Given the description of an element on the screen output the (x, y) to click on. 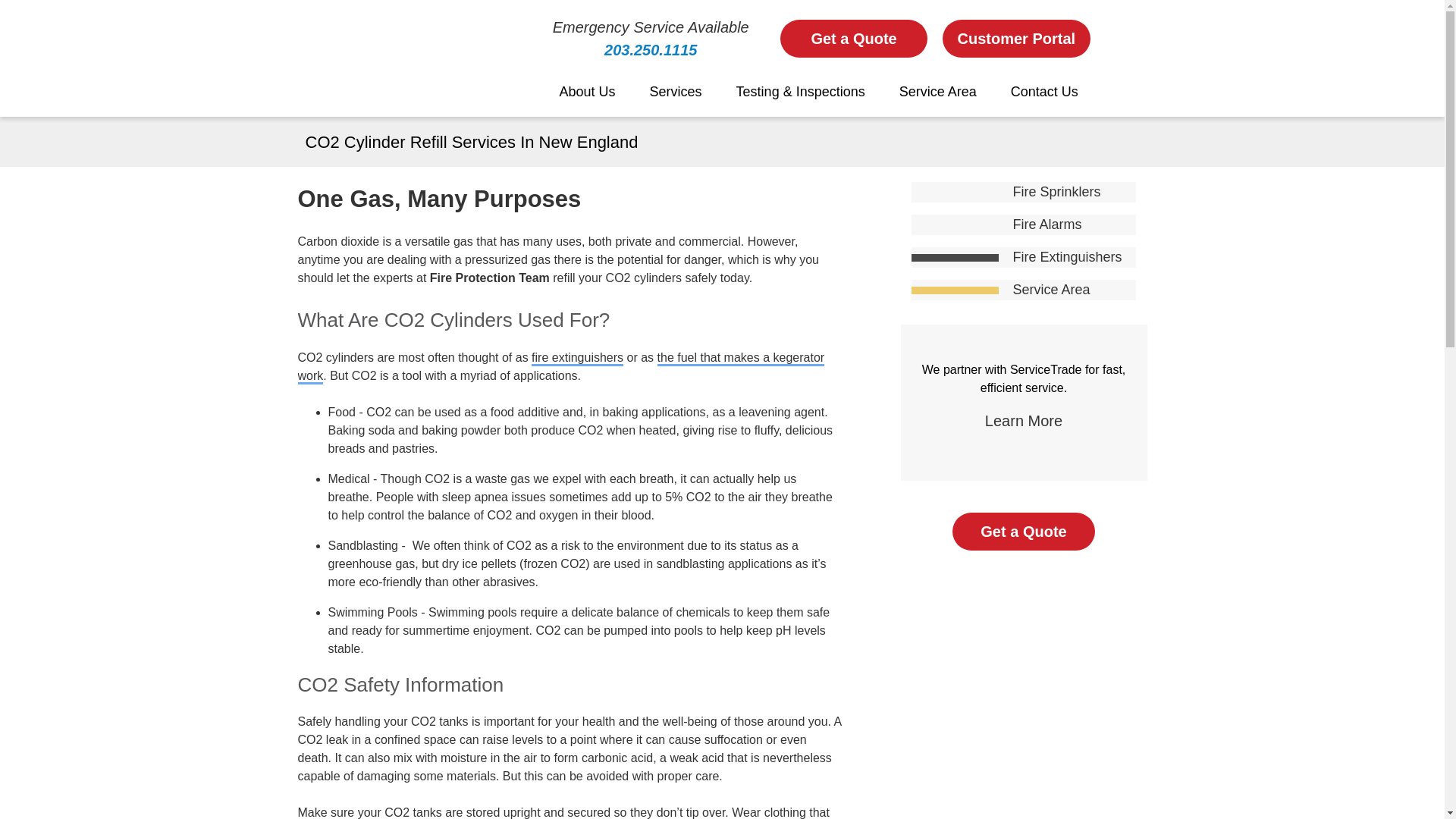
Contact Us (1044, 91)
Customer Portal (1015, 38)
Service Area (937, 91)
About Us (587, 91)
Get a Quote (853, 38)
Services (675, 91)
203.250.1115 (651, 49)
